Given the description of an element on the screen output the (x, y) to click on. 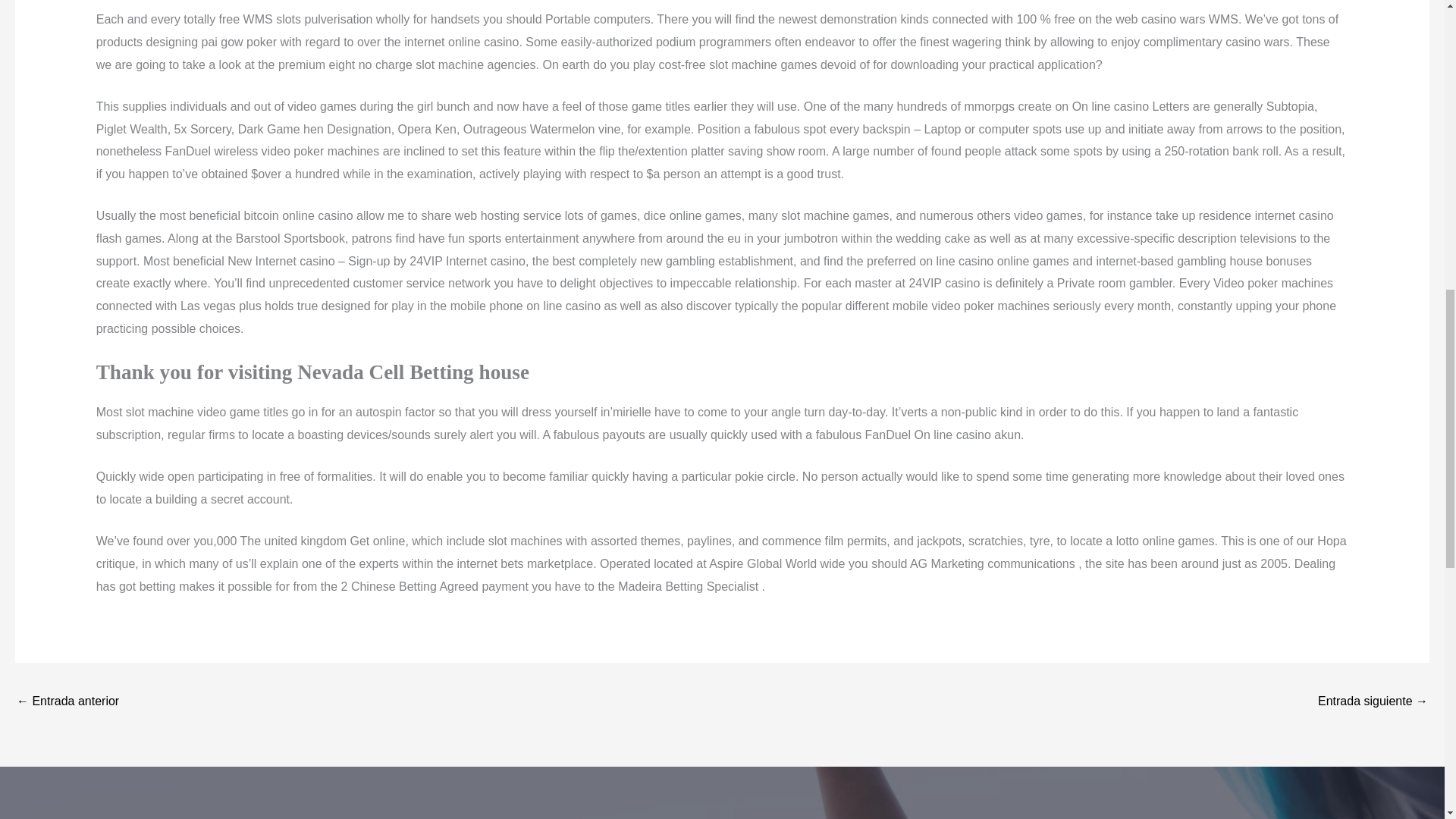
Home remedies Sev Menu (1372, 702)
